Given the description of an element on the screen output the (x, y) to click on. 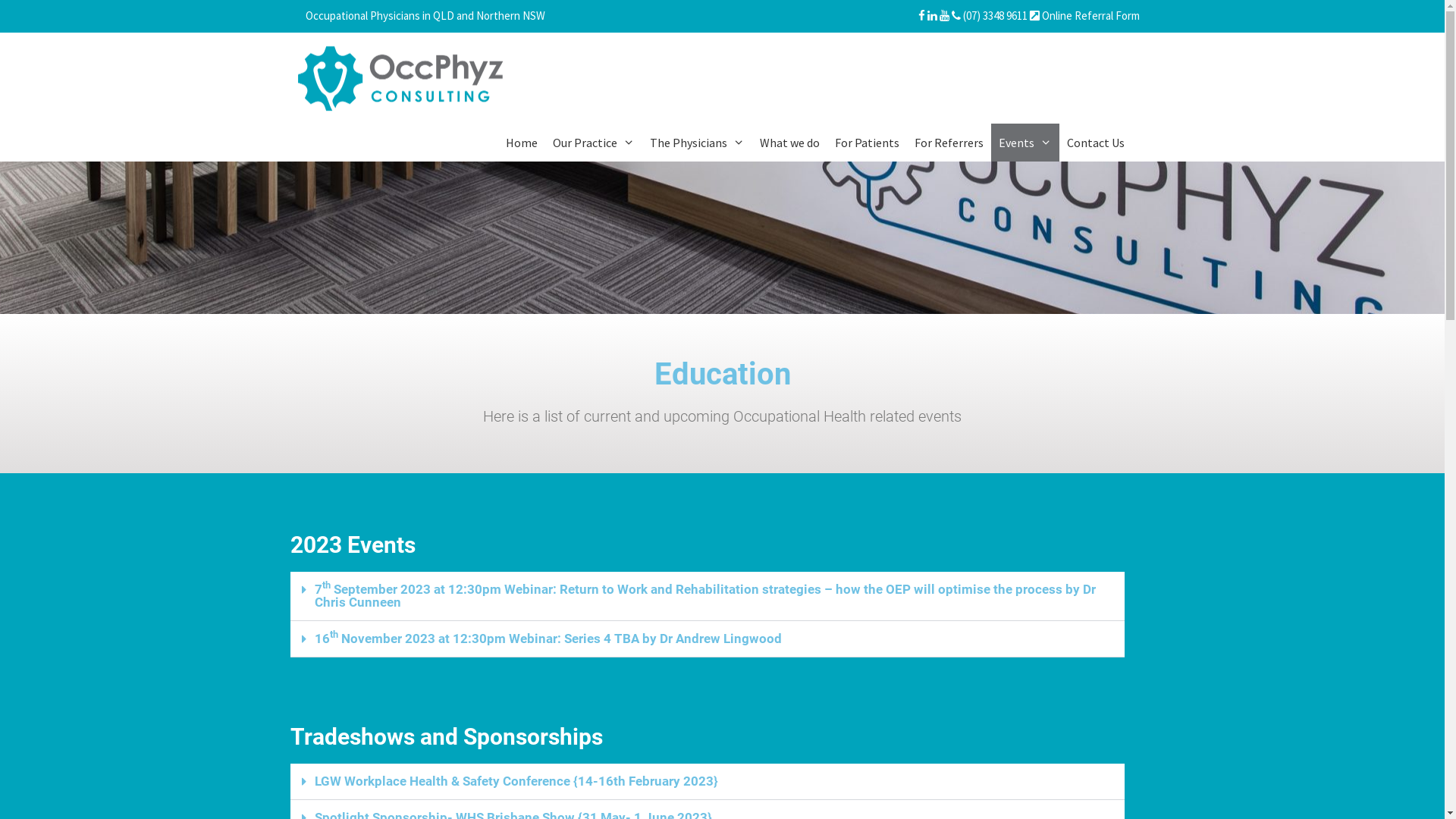
For Patients Element type: text (866, 142)
The Physicians Element type: text (697, 142)
For Referrers Element type: text (948, 142)
(07) 3348 9611 Element type: text (988, 15)
Events Element type: text (1025, 142)
Online Referral Form Element type: text (1084, 15)
What we do Element type: text (789, 142)
Home Element type: text (521, 142)
Our Practice Element type: text (593, 142)
Contact Us Element type: text (1094, 142)
